Given the description of an element on the screen output the (x, y) to click on. 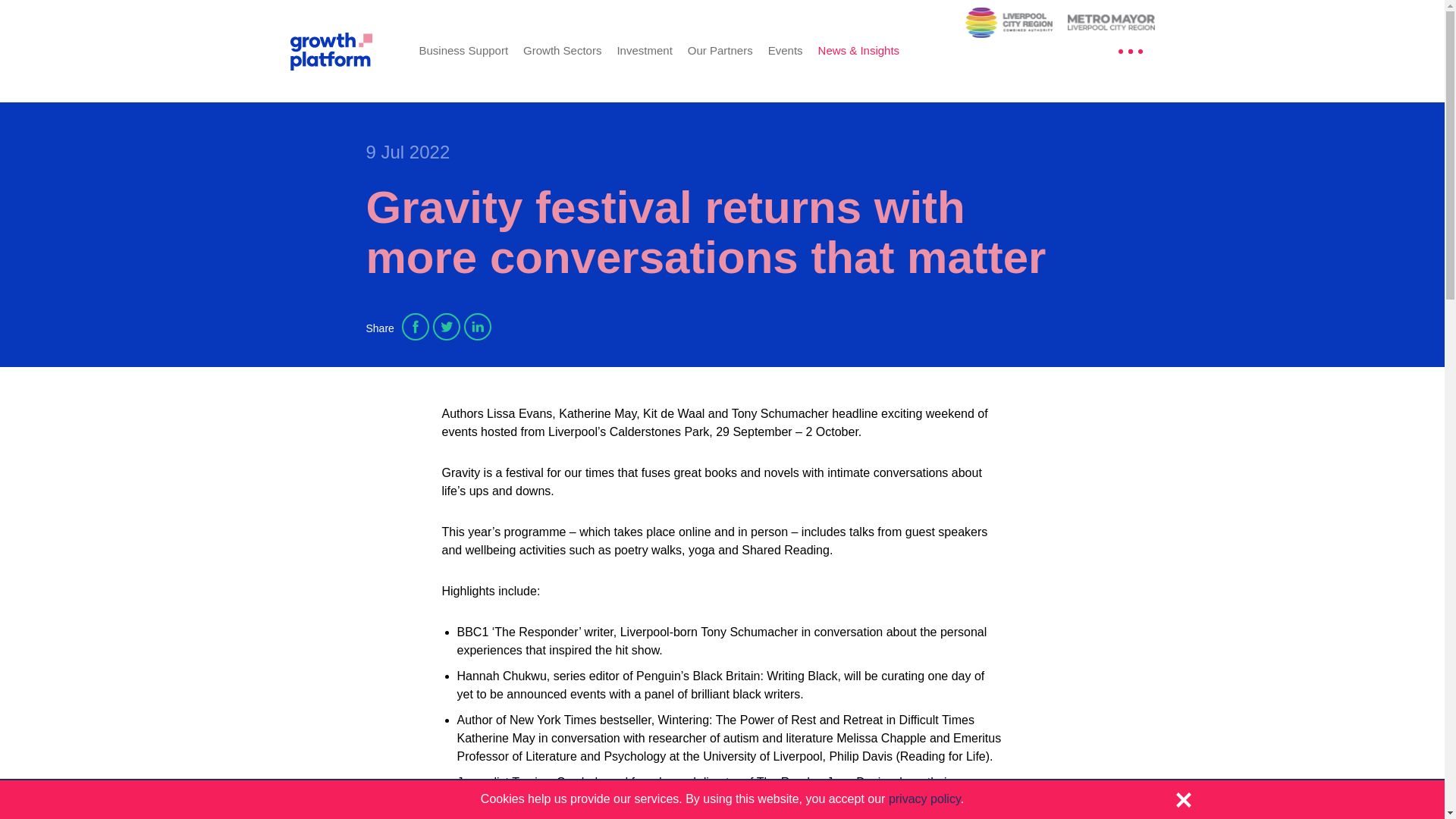
Business Support (463, 50)
Growth Sectors (561, 50)
Our Partners (719, 50)
Investment (643, 50)
Go to Growth Platform homepage (342, 50)
